Given the description of an element on the screen output the (x, y) to click on. 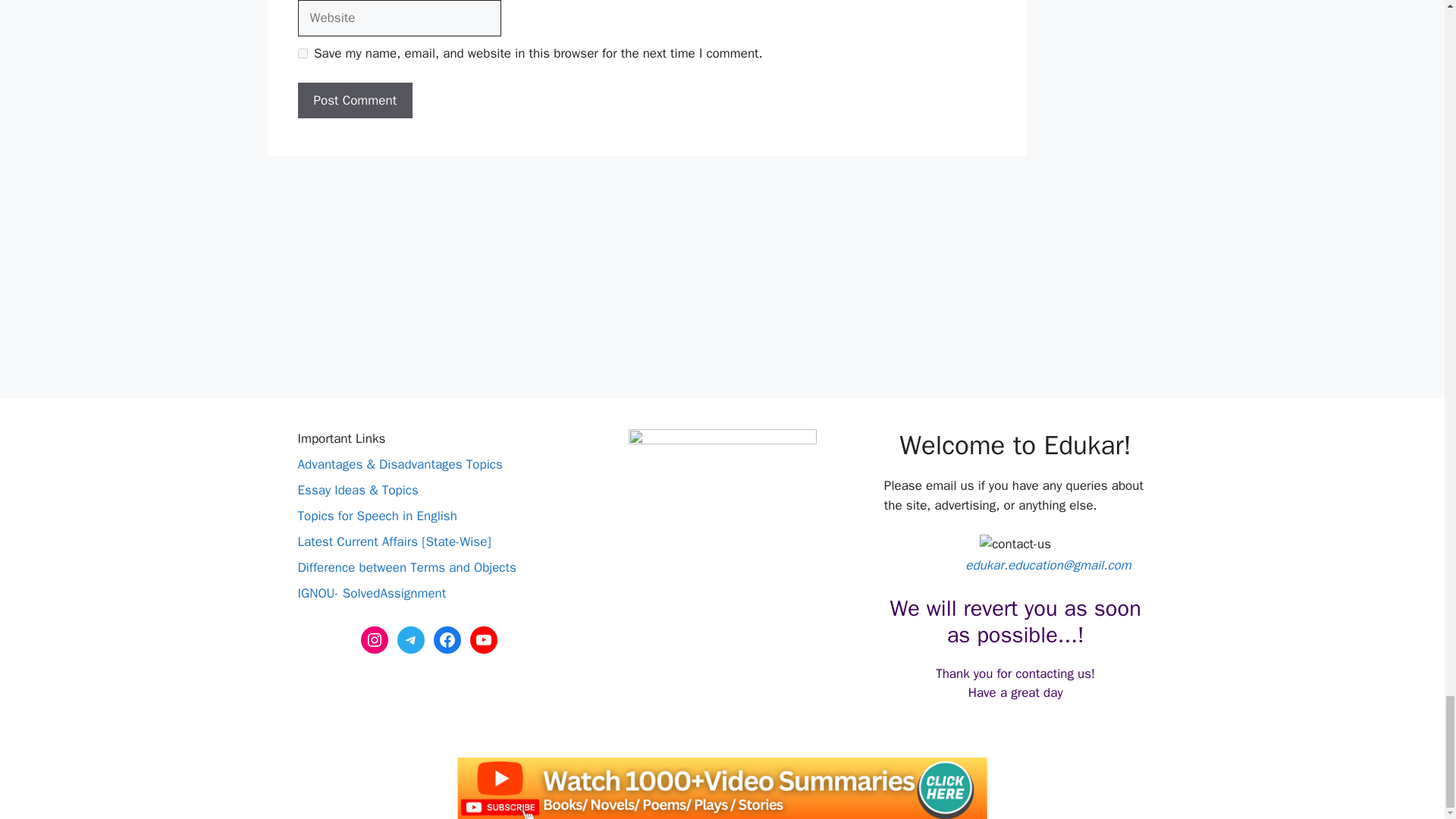
Post Comment (354, 100)
yes (302, 53)
